Given the description of an element on the screen output the (x, y) to click on. 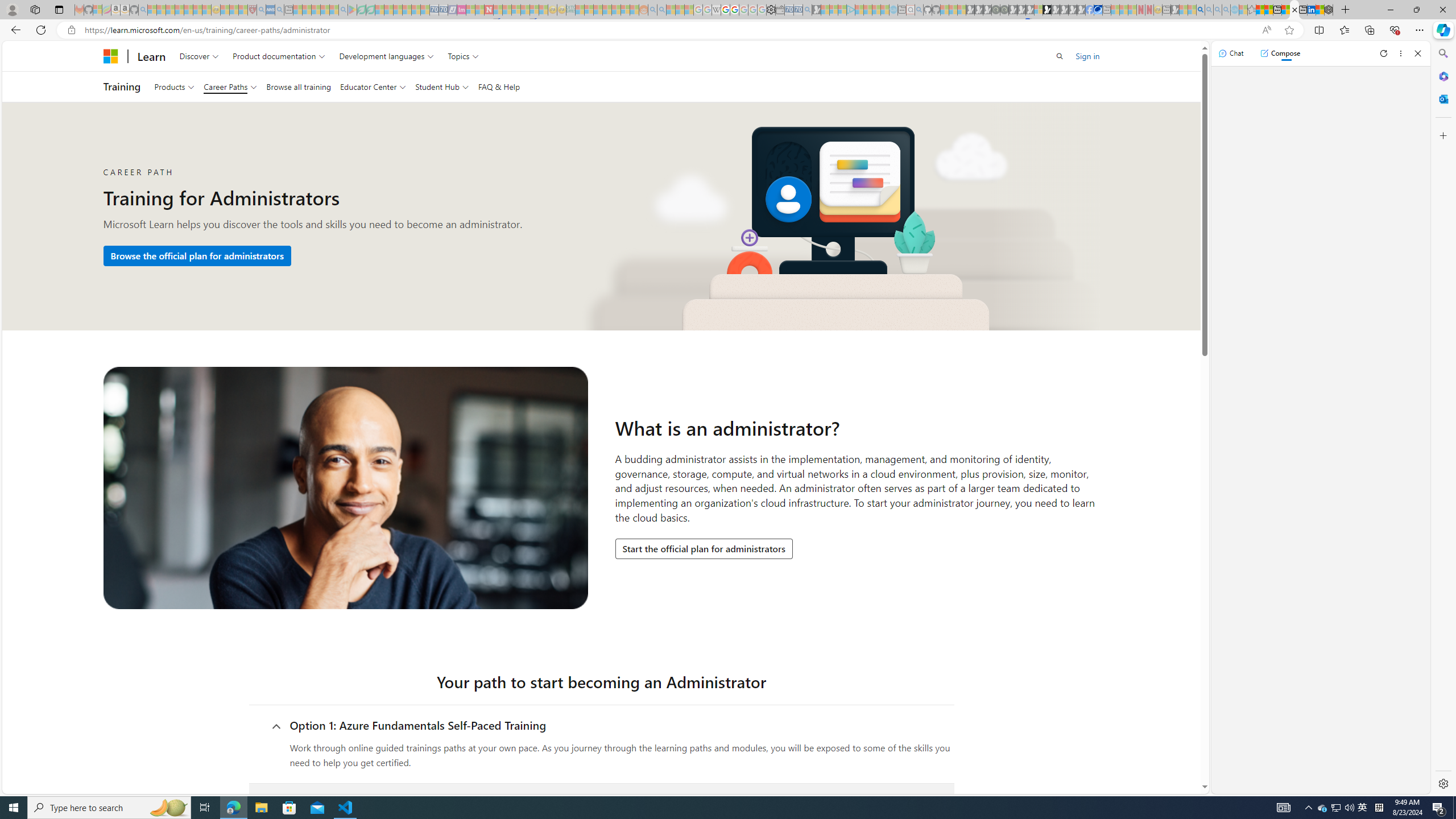
FAQ & Help (499, 86)
Product documentation (278, 55)
Microsoft (110, 55)
Sign in (1087, 55)
Browse all training (298, 86)
Bluey: Let's Play! - Apps on Google Play - Sleeping (352, 9)
AQI & Health | AirNow.gov (1098, 9)
Jobs - lastminute.com Investor Portal - Sleeping (461, 9)
Bing Real Estate - Home sales and rental listings - Sleeping (806, 9)
